Given the description of an element on the screen output the (x, y) to click on. 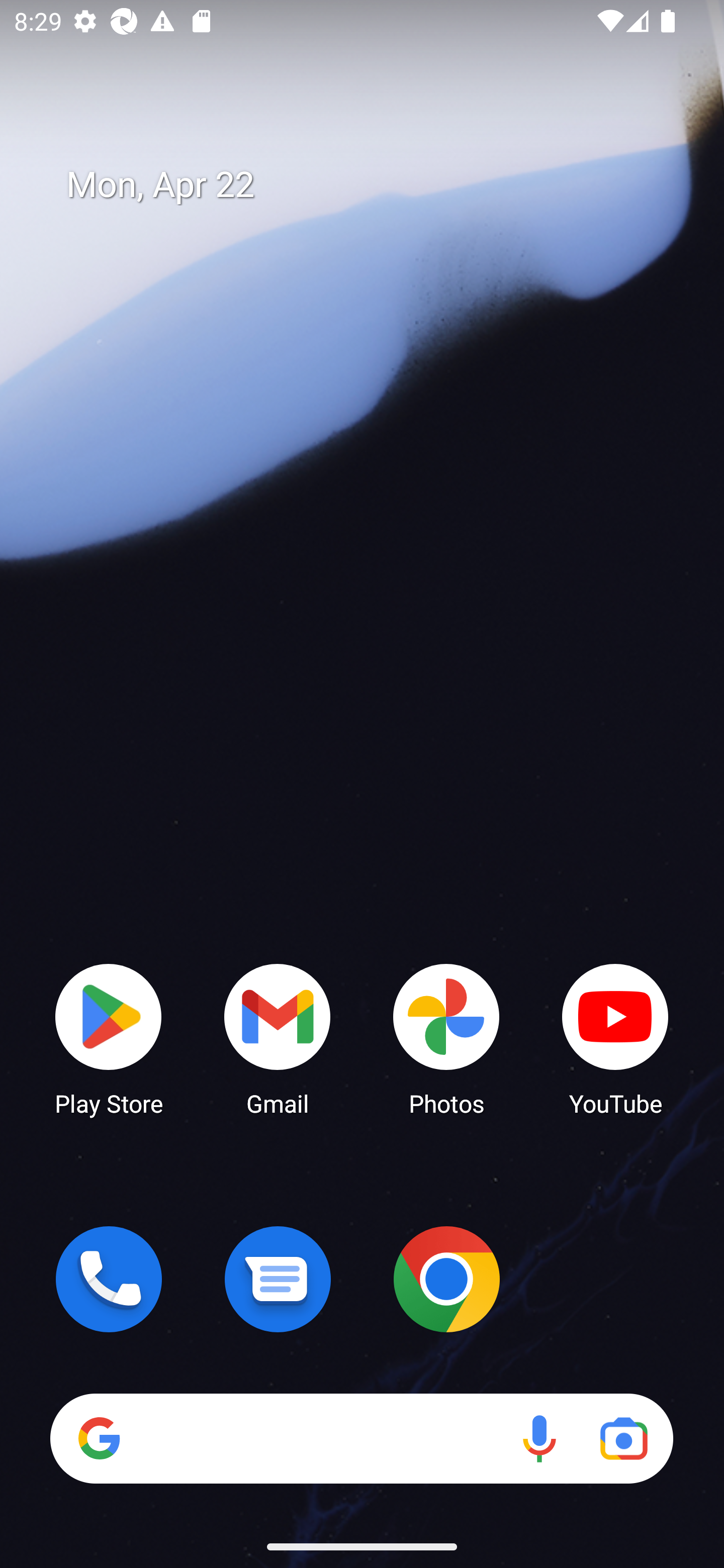
Mon, Apr 22 (375, 184)
Play Store (108, 1038)
Gmail (277, 1038)
Photos (445, 1038)
YouTube (615, 1038)
Phone (108, 1279)
Messages (277, 1279)
Chrome (446, 1279)
Search Voice search Google Lens (361, 1438)
Voice search (539, 1438)
Google Lens (623, 1438)
